Given the description of an element on the screen output the (x, y) to click on. 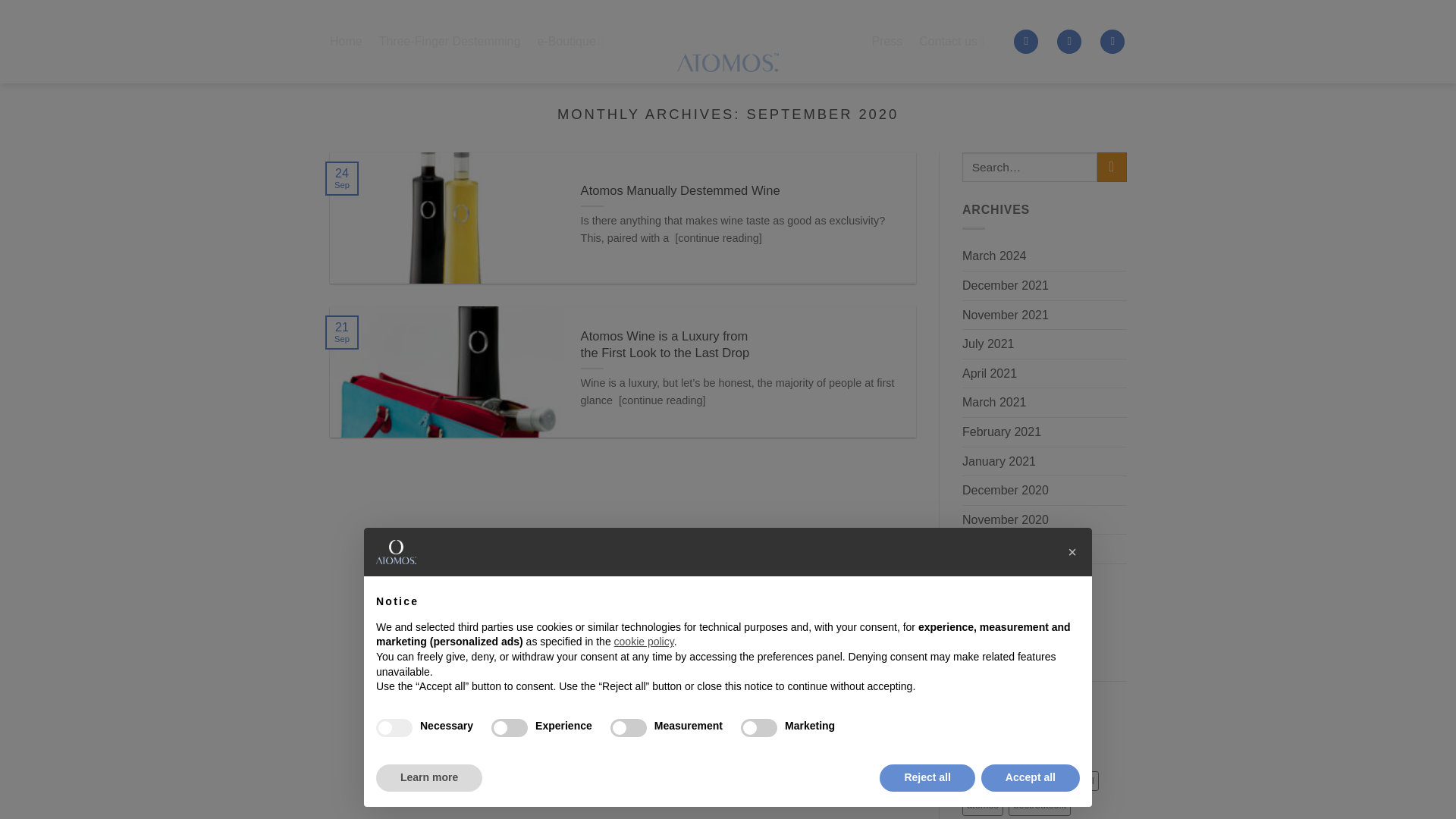
November 2021 (1004, 315)
March 2024 (993, 256)
December 2020 (1004, 490)
December 2021 (1004, 285)
2020 (975, 781)
false (759, 728)
false (628, 728)
April 2021 (988, 373)
false (509, 728)
January 2021 (997, 461)
February 2021 (1000, 431)
November 2020 (1004, 520)
e-Boutique (569, 41)
March 2021 (993, 403)
Atomos Wine is a Luxury from the First Look to the Last Drop (739, 344)
